Given the description of an element on the screen output the (x, y) to click on. 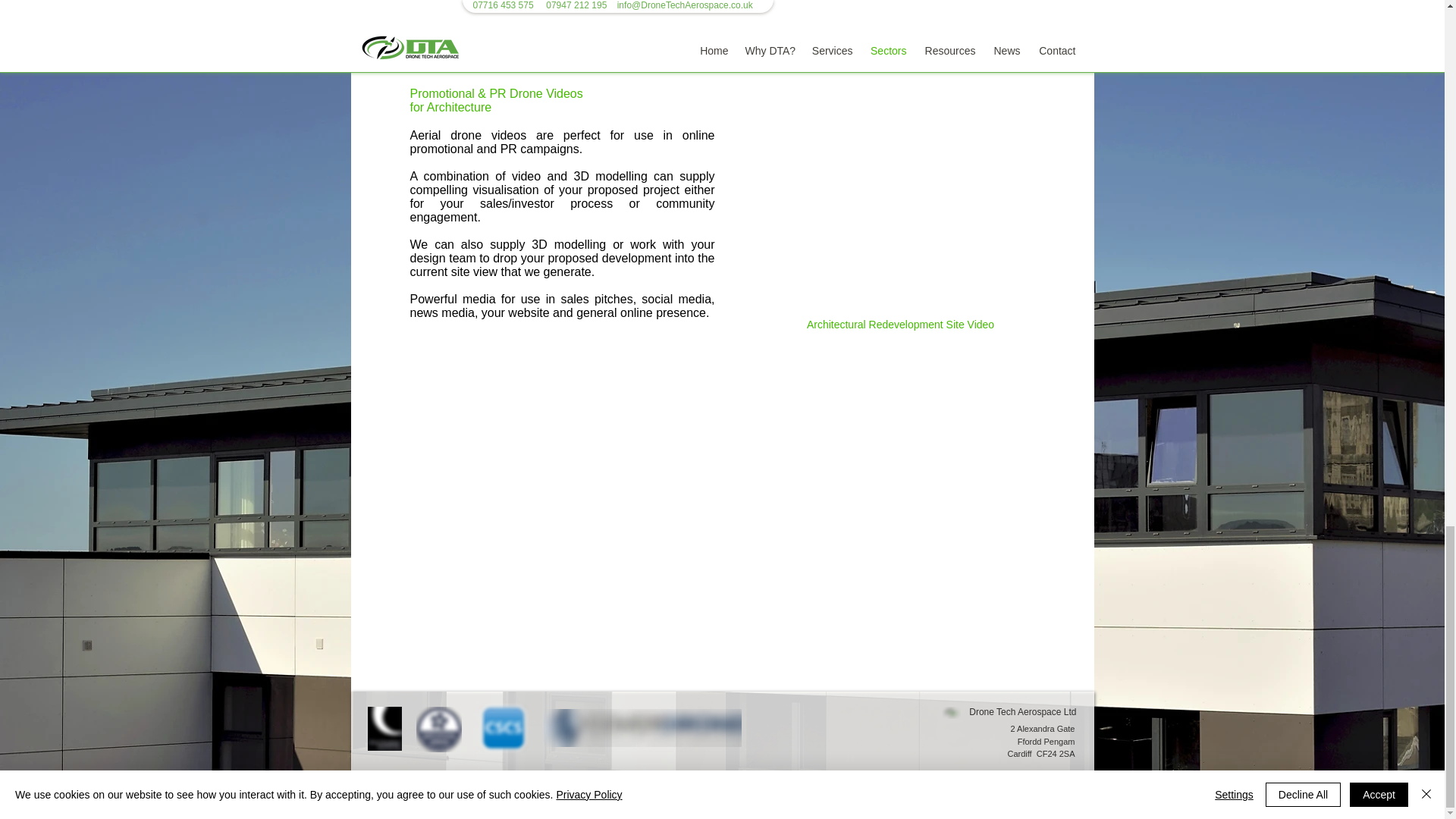
DTA Architecture Promotional Drone Photography (563, 7)
DTA Home (951, 712)
External YouTube (900, 219)
